Given the description of an element on the screen output the (x, y) to click on. 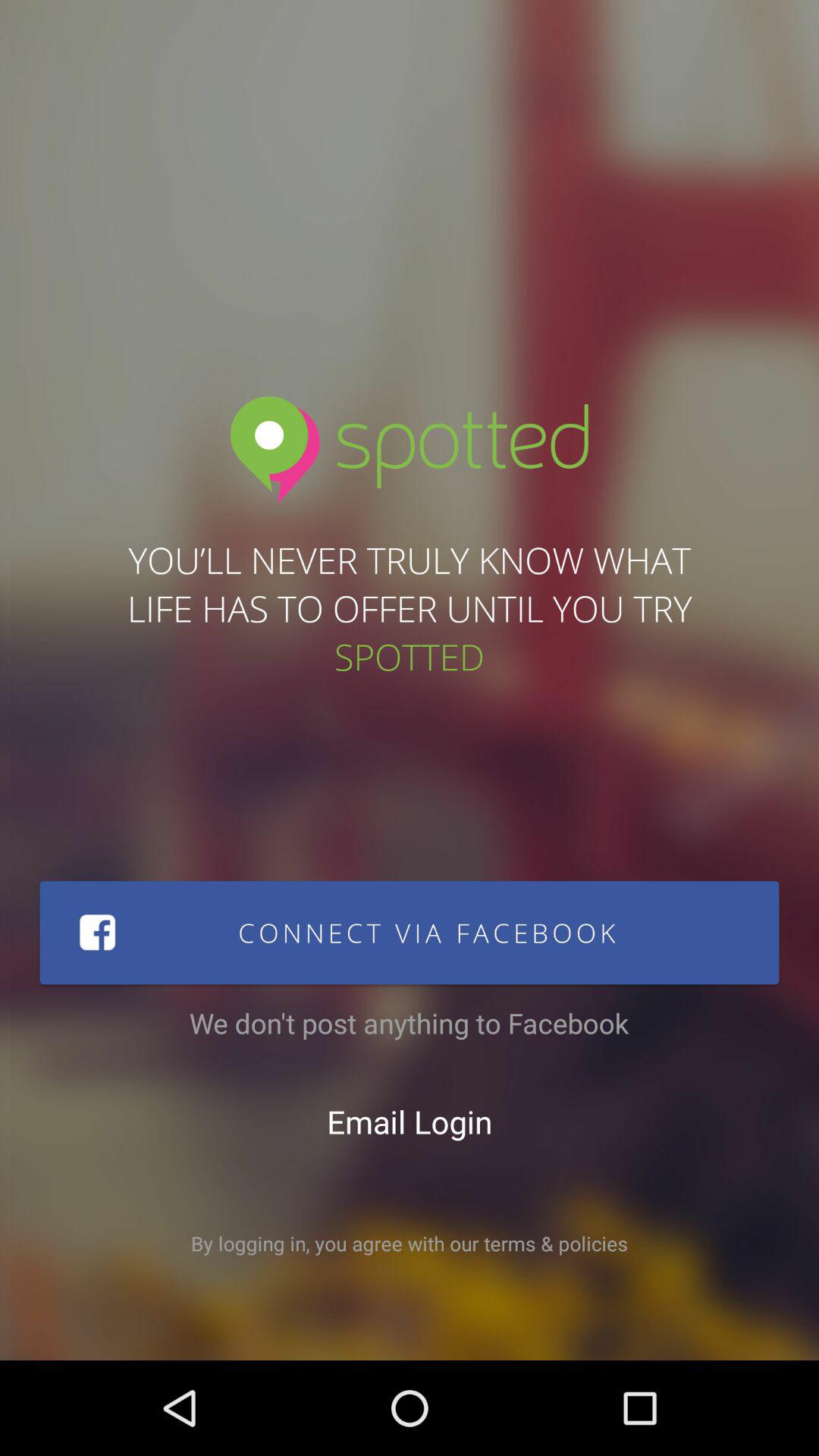
turn off icon below the you ll never item (409, 932)
